Given the description of an element on the screen output the (x, y) to click on. 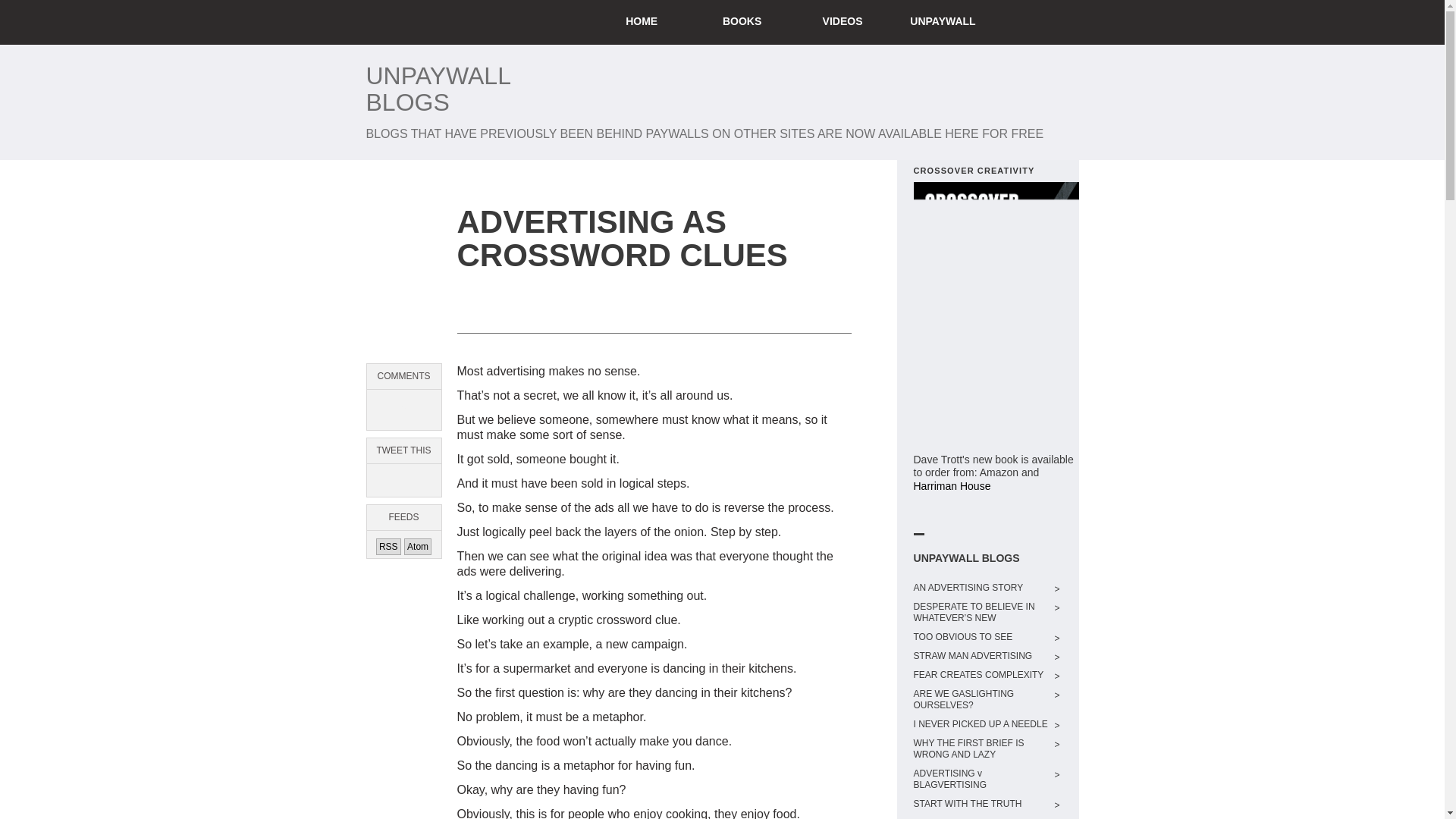
VIDEOS (842, 22)
Harriman House (951, 485)
BOOKS (742, 22)
UNPAYWALL (943, 22)
AN ADVERTISING STORY (980, 587)
ADVERTISING v BLAGVERTISING (980, 779)
WHAT DOES PIVOT REALLY MEAN? (980, 818)
ARE WE GASLIGHTING OURSELVES? (980, 699)
TOO OBVIOUS TO SEE (980, 636)
I NEVER PICKED UP A NEEDLE (980, 724)
